Given the description of an element on the screen output the (x, y) to click on. 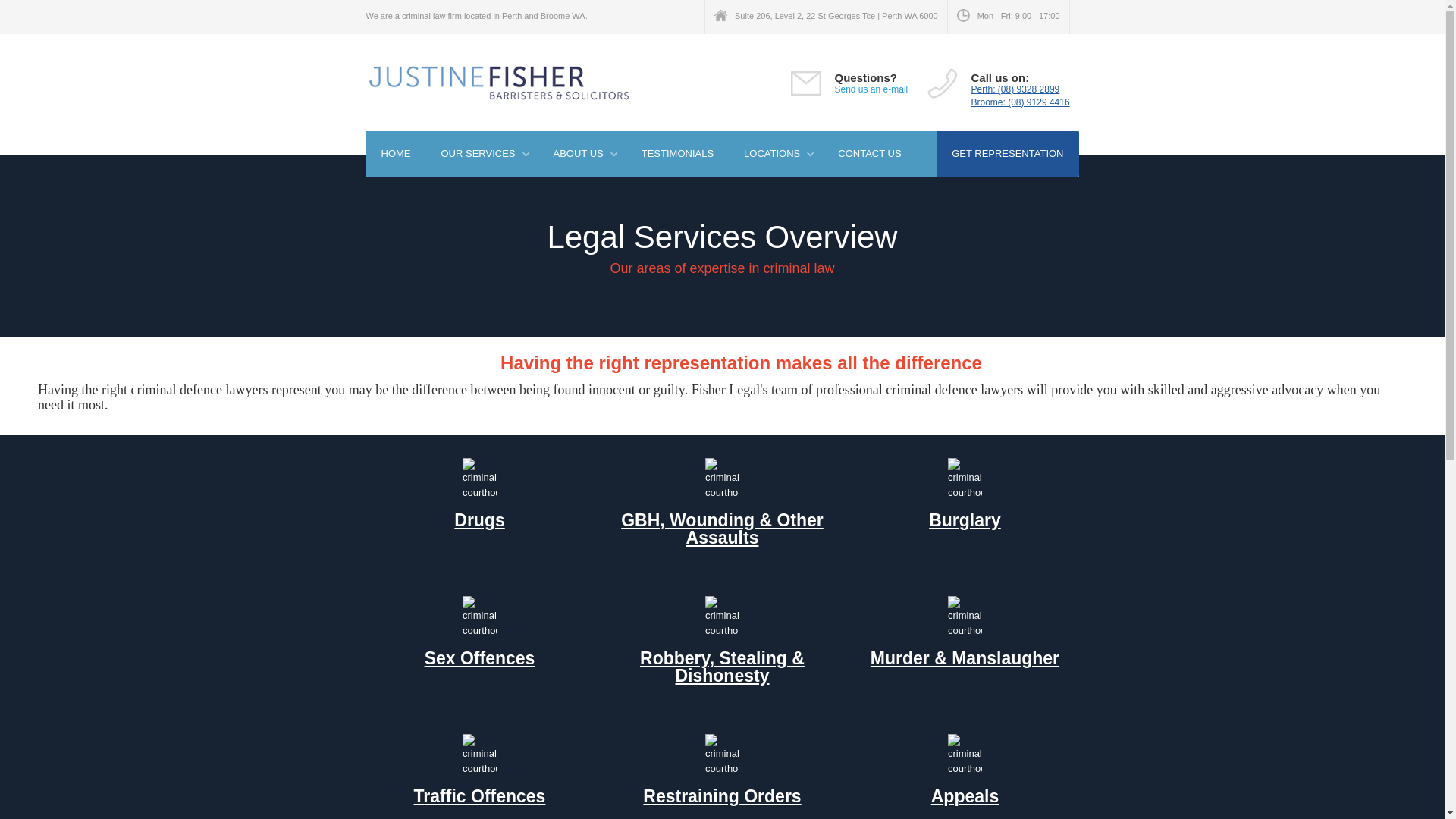
Appeals Element type: text (964, 796)
Restraining Orders Element type: text (721, 796)
GBH, Wounding & Other Assaults Element type: text (722, 528)
Murder & Manslaugher Element type: text (964, 658)
Drugs Element type: text (479, 520)
Perth: (08) 9328 2899 Element type: text (1014, 89)
Robbery, Stealing & Dishonesty Element type: text (722, 666)
GET REPRESENTATION Element type: text (1007, 153)
HOME Element type: text (395, 153)
Send us an e-mail Element type: text (870, 89)
TESTIMONIALS Element type: text (677, 153)
Sex Offences Element type: text (479, 658)
Burglary Element type: text (964, 520)
CONTACT US Element type: text (869, 153)
Broome: (08) 9129 4416 Element type: text (1019, 102)
Traffic Offences Element type: text (480, 796)
